Given the description of an element on the screen output the (x, y) to click on. 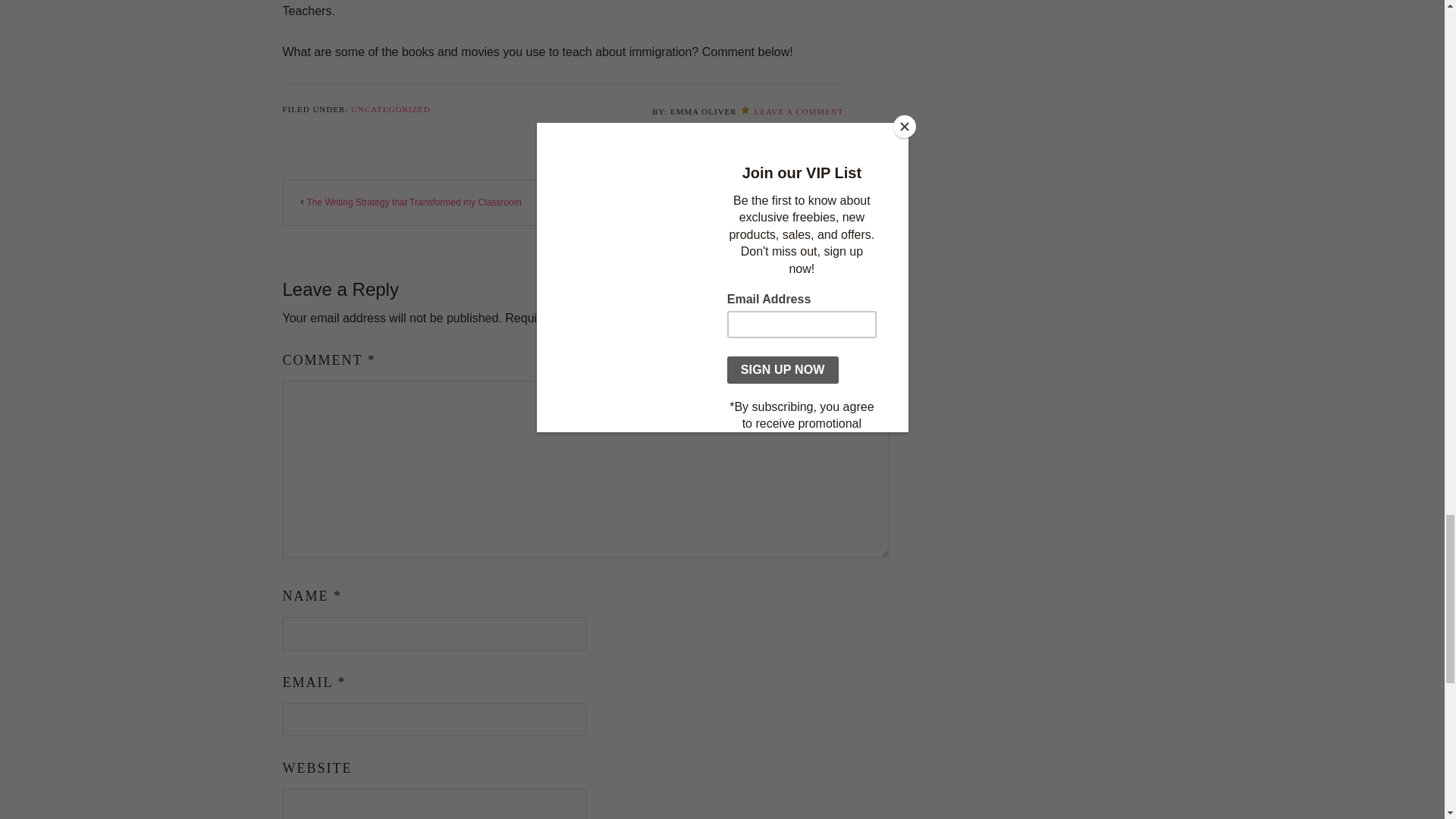
LEAVE A COMMENT (798, 111)
UNCATEGORIZED (390, 108)
